Given the description of an element on the screen output the (x, y) to click on. 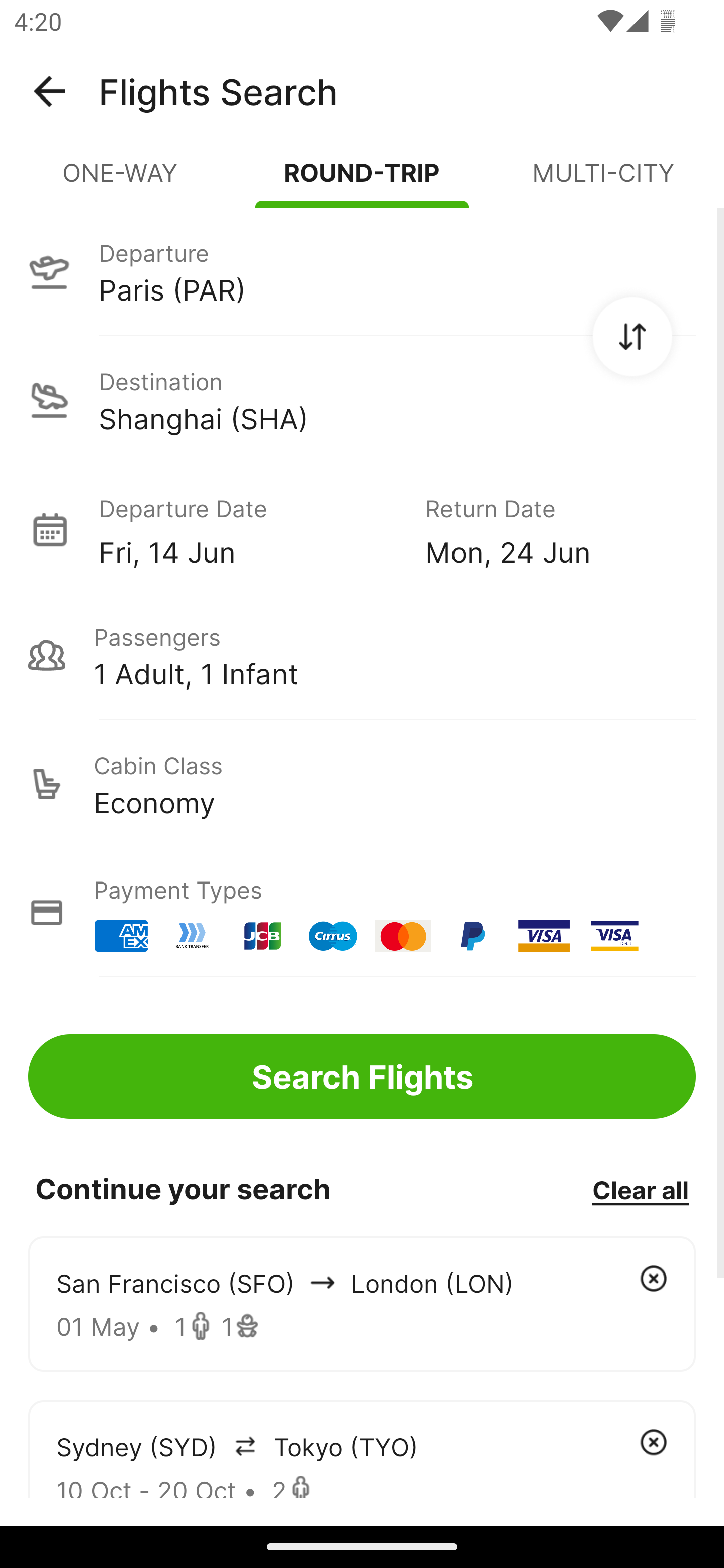
ONE-WAY (120, 180)
ROUND-TRIP (361, 180)
MULTI-CITY (603, 180)
Departure Paris (PAR) (362, 270)
Destination Shanghai (SHA) (362, 400)
Departure Date Fri, 14 Jun (247, 528)
Return Date Mon, 24 Jun (546, 528)
Passengers 1 Adult, 1 Infant (362, 655)
Cabin Class Economy (362, 783)
Payment Types (362, 912)
Search Flights (361, 1075)
Clear all (640, 1189)
